Given the description of an element on the screen output the (x, y) to click on. 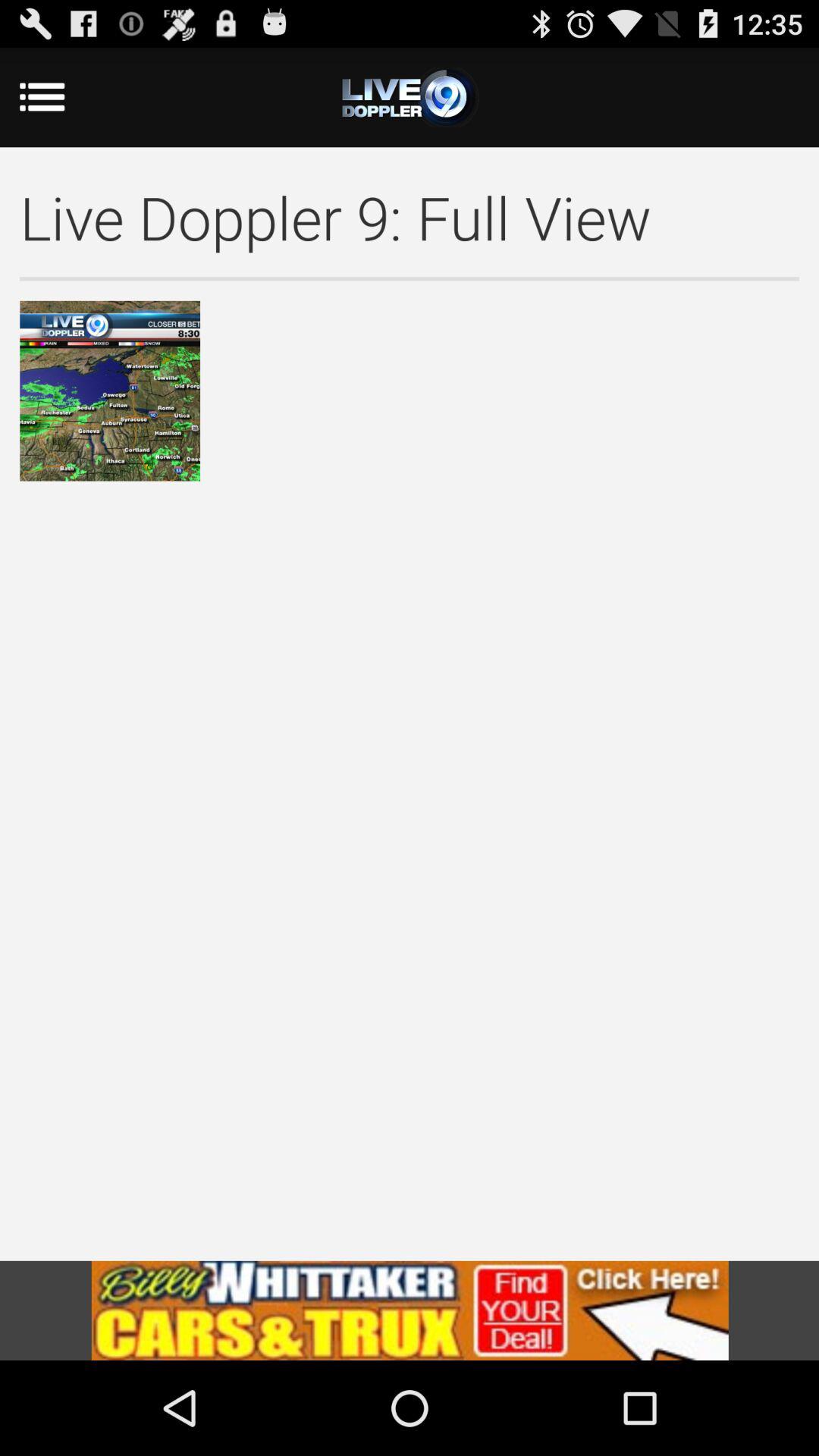
open advertisement (409, 1310)
